Given the description of an element on the screen output the (x, y) to click on. 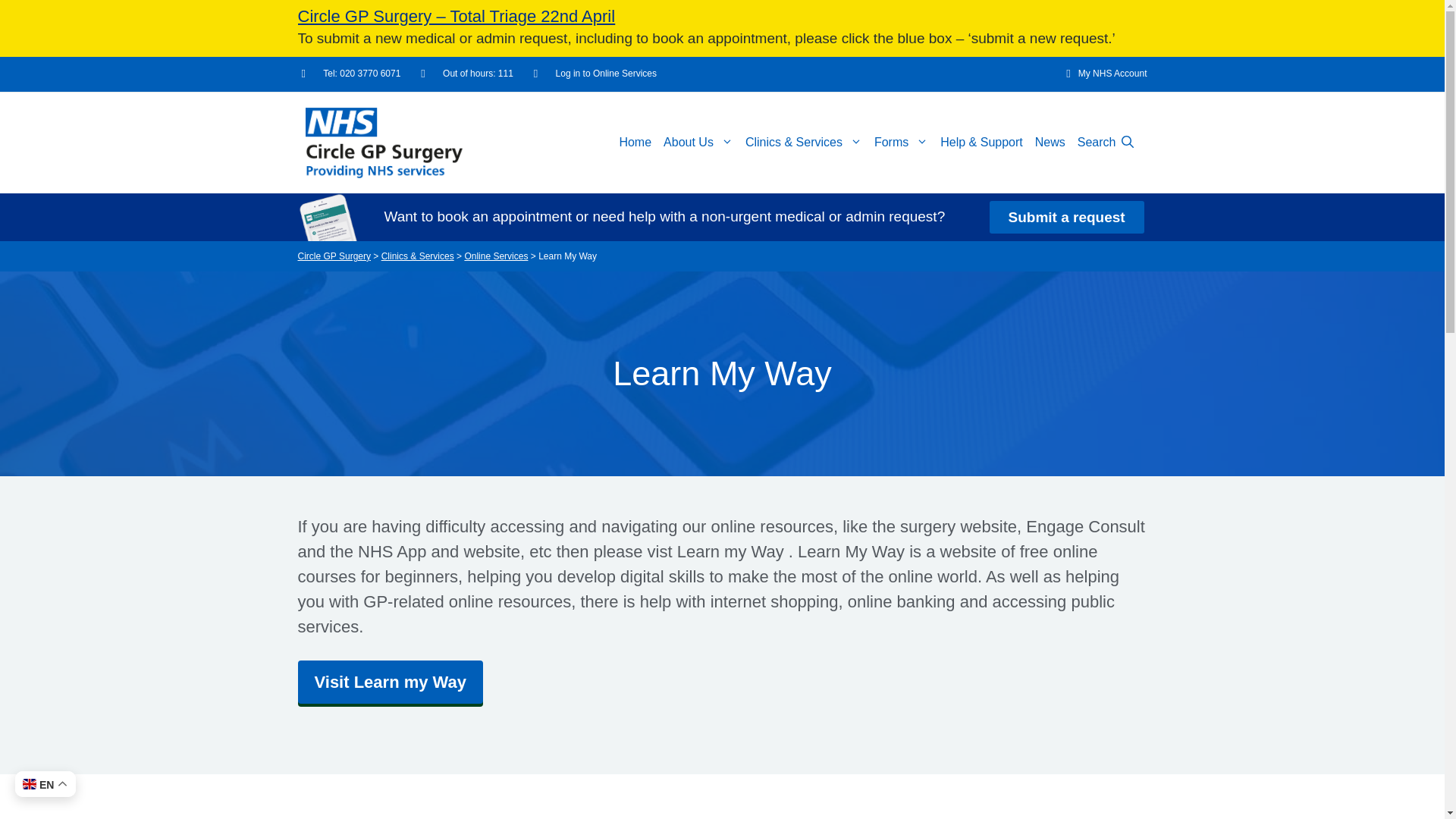
Out of hours: 111 (466, 74)
Log in to Online Services (595, 74)
Tel: 020 3770 6071 (351, 74)
Go to Circle GP Surgery. (333, 255)
Home (635, 142)
About Us (698, 142)
My NHS Account (1102, 74)
Go to Online Services. (495, 255)
